Given the description of an element on the screen output the (x, y) to click on. 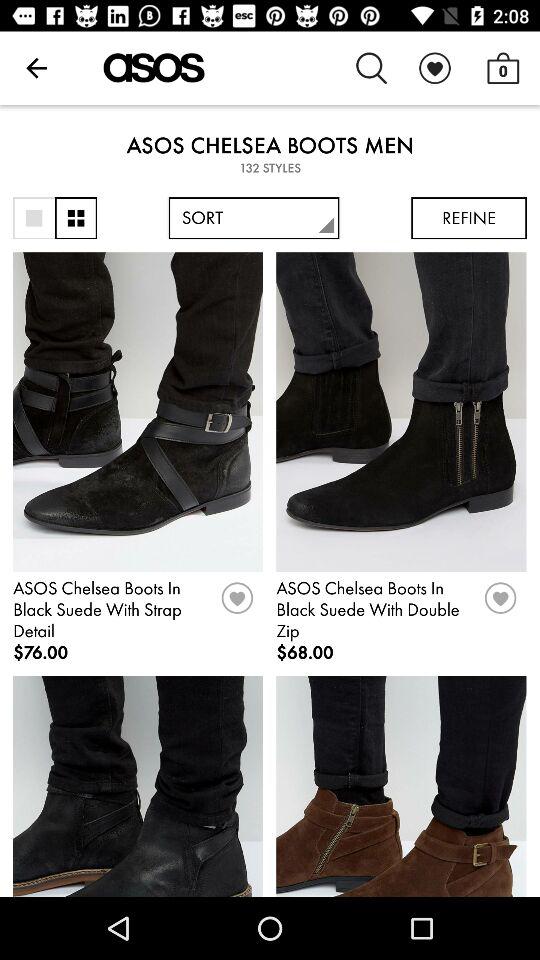
choose icon above the asos chelsea boots item (371, 67)
